Given the description of an element on the screen output the (x, y) to click on. 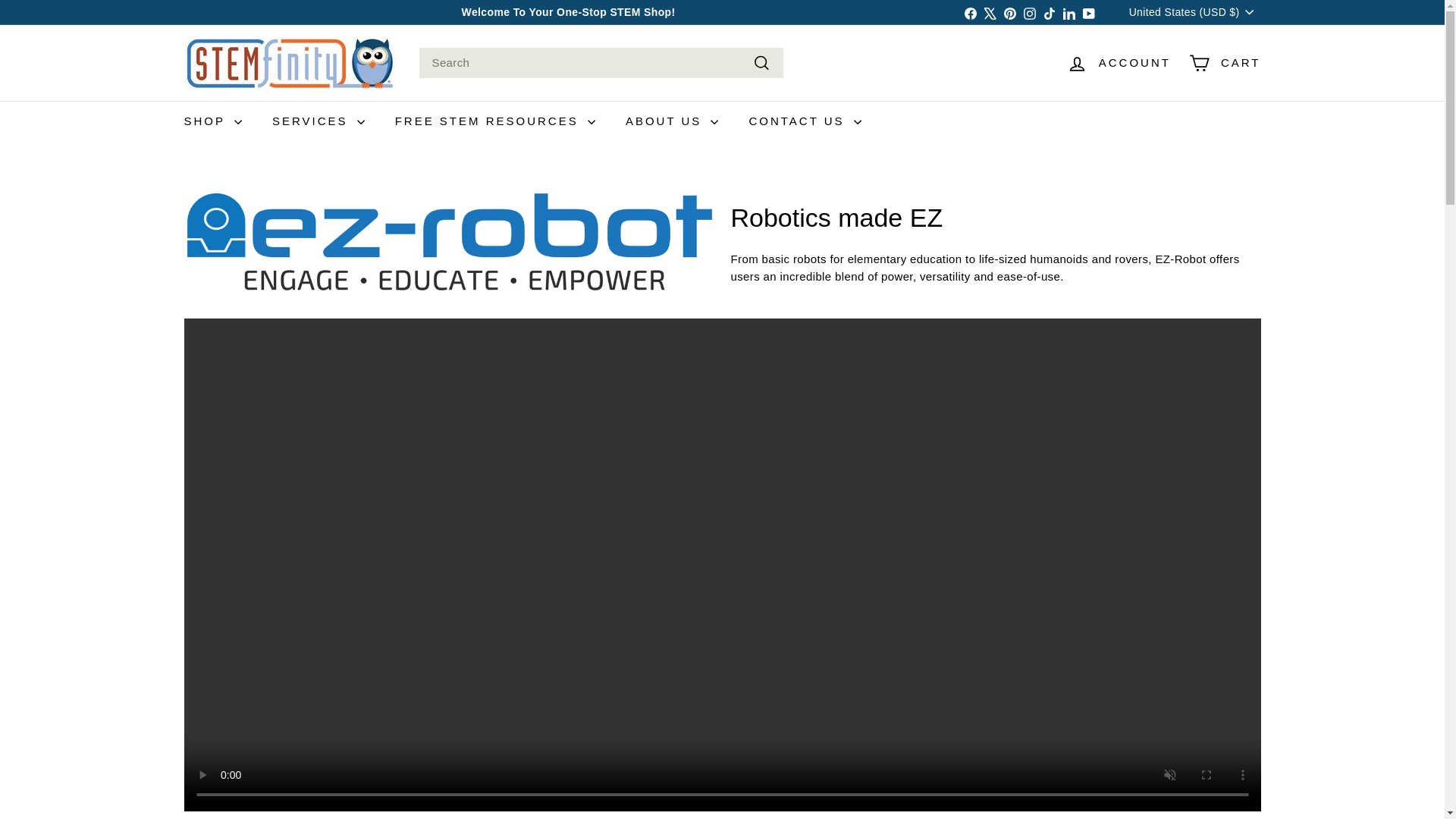
STEMfinity on Instagram (1029, 12)
Search (762, 63)
Facebook (969, 12)
STEMfinity on Facebook (969, 12)
CART (1224, 62)
STEMfinity on Pinterest (1010, 12)
YouTube (1088, 12)
STEMfinity on YouTube (1088, 12)
TikTok (1049, 12)
Pinterest (1010, 12)
